Given the description of an element on the screen output the (x, y) to click on. 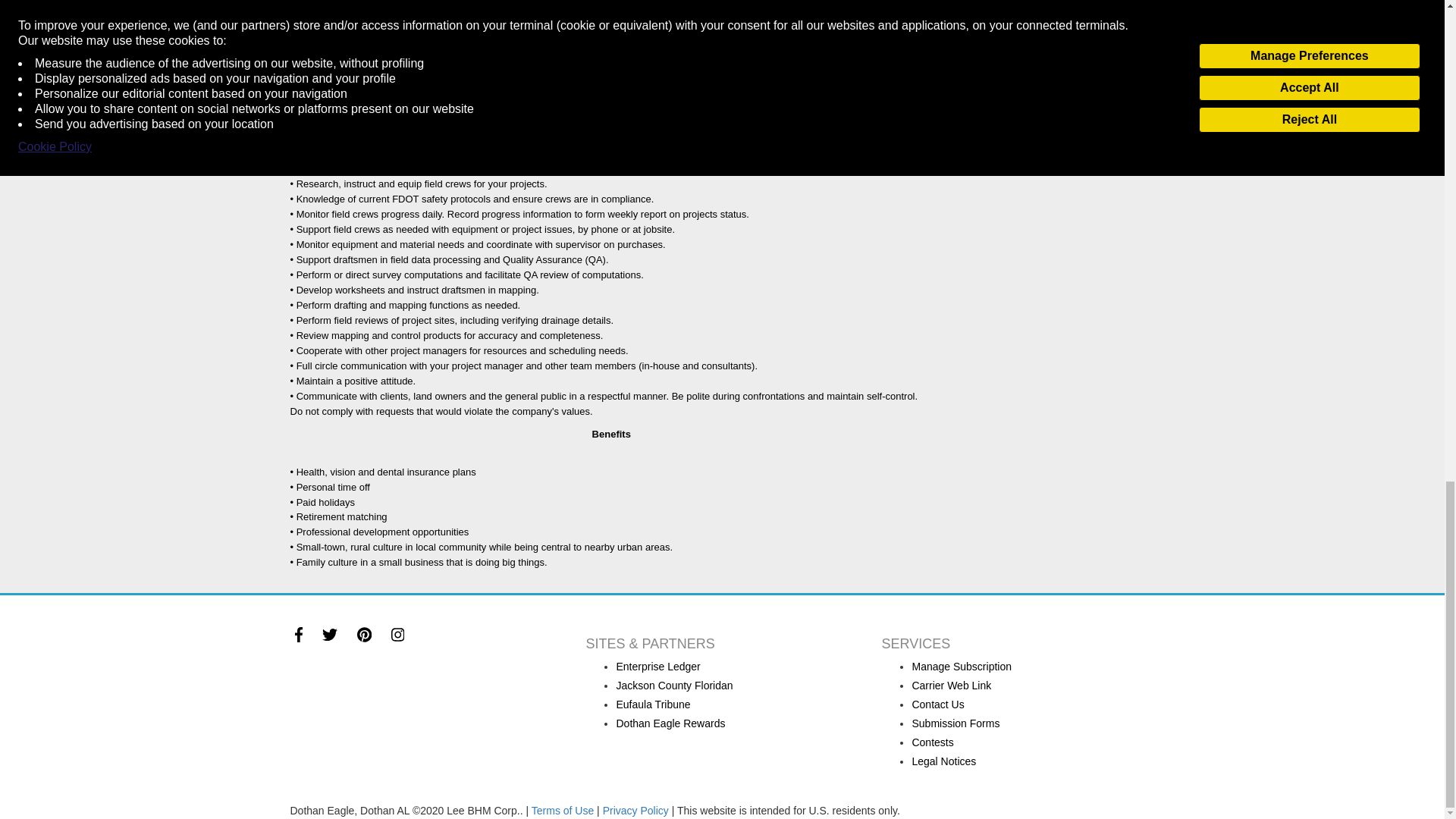
Manage Subscription (961, 666)
Carrier Web Link (951, 685)
Dothan Eagle Rewards (670, 723)
Contact Us (937, 704)
Submission Forms (954, 723)
Terms of Use (562, 810)
Enterprise Ledger (657, 666)
Legal Notices (943, 761)
Contests (932, 742)
Jackson County Floridan (673, 685)
Eufaula Tribune (652, 704)
